Given the description of an element on the screen output the (x, y) to click on. 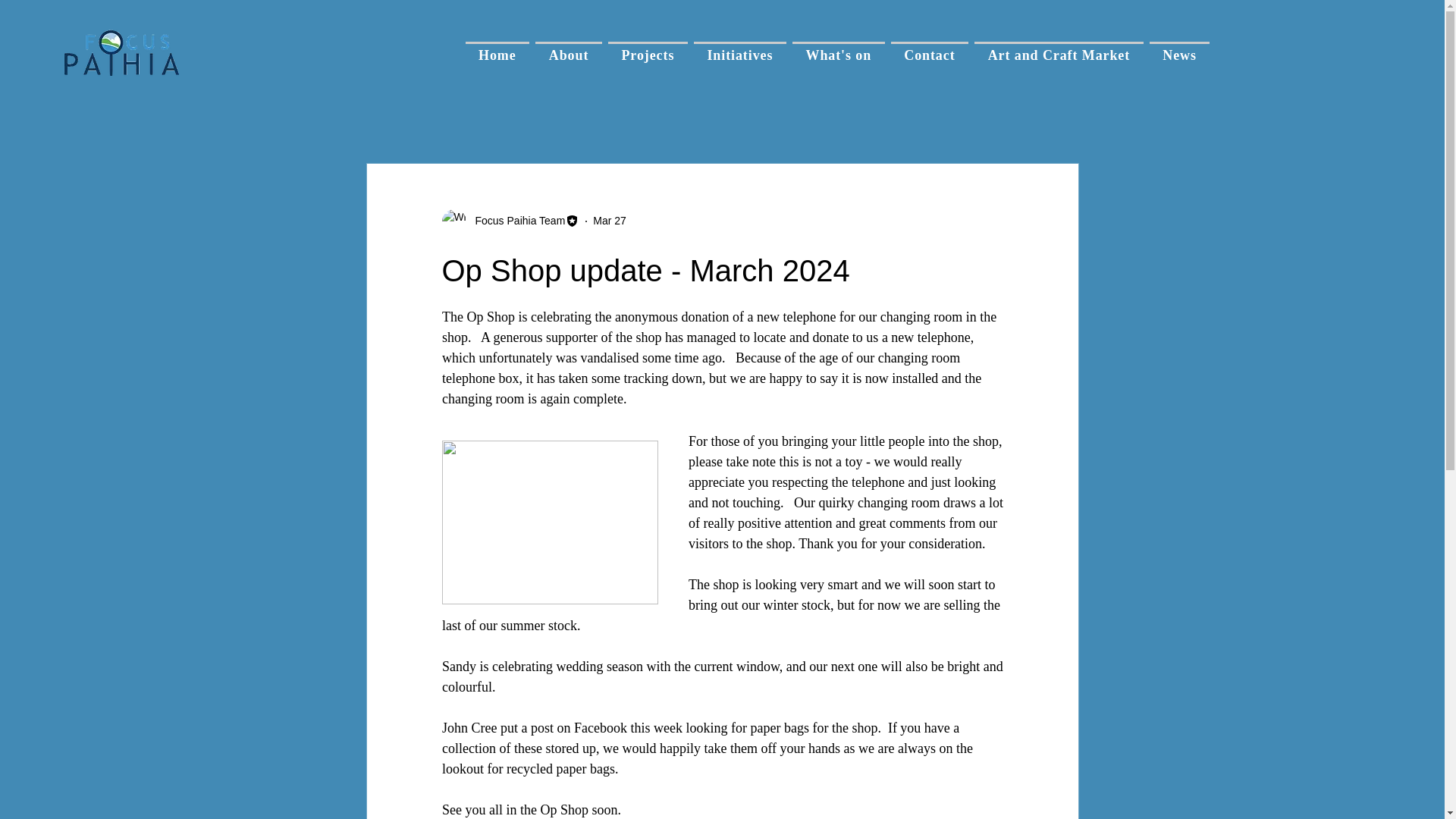
Mar 27 (609, 220)
Home (497, 54)
Projects (647, 54)
Focus Paihia Team (514, 220)
Contact (929, 54)
About (568, 54)
Art and Craft Market (1058, 54)
fplogo.webp (121, 52)
News (1179, 54)
What's on (838, 54)
Initiatives (740, 54)
